Given the description of an element on the screen output the (x, y) to click on. 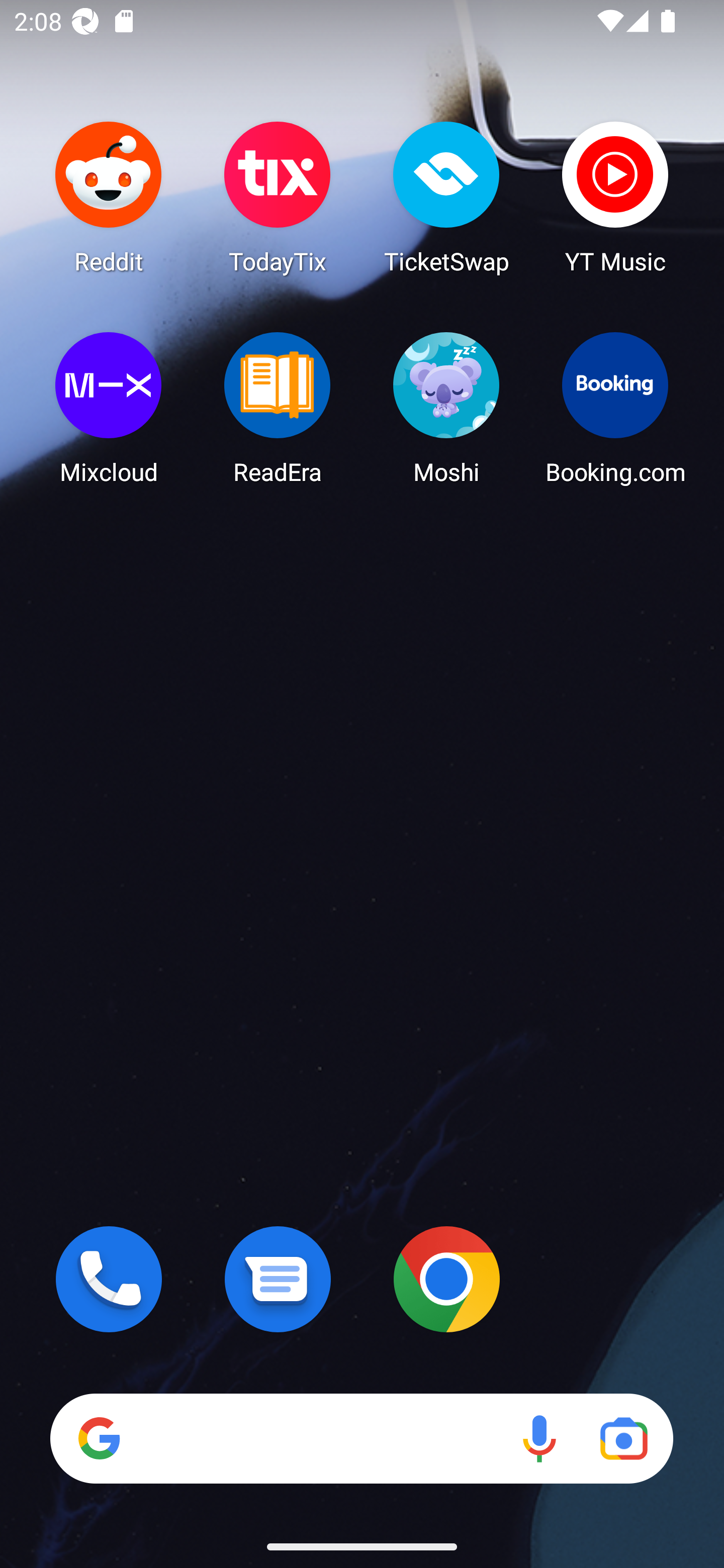
Reddit (108, 196)
TodayTix (277, 196)
TicketSwap (445, 196)
YT Music (615, 196)
Mixcloud (108, 407)
ReadEra (277, 407)
Moshi (445, 407)
Booking.com (615, 407)
Phone (108, 1279)
Messages (277, 1279)
Chrome (446, 1279)
Search Voice search Google Lens (361, 1438)
Voice search (539, 1438)
Google Lens (623, 1438)
